Given the description of an element on the screen output the (x, y) to click on. 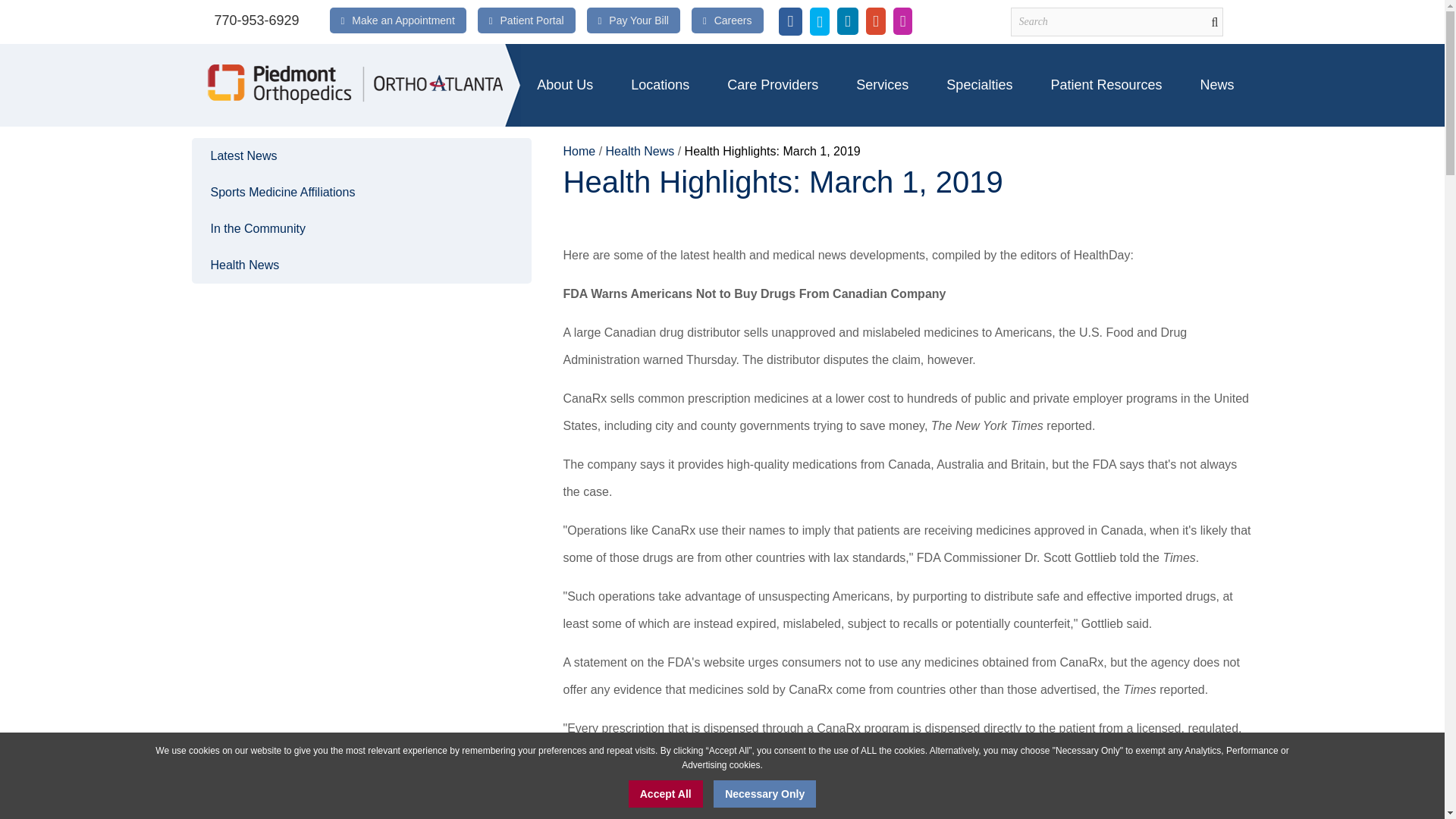
Locations (659, 85)
Pay Your Bill (638, 19)
Careers (733, 19)
770-953-6929 (256, 20)
Search (1116, 21)
Make an Appointment (403, 19)
About Us (564, 85)
Search (1116, 21)
Patient Portal (532, 19)
